Given the description of an element on the screen output the (x, y) to click on. 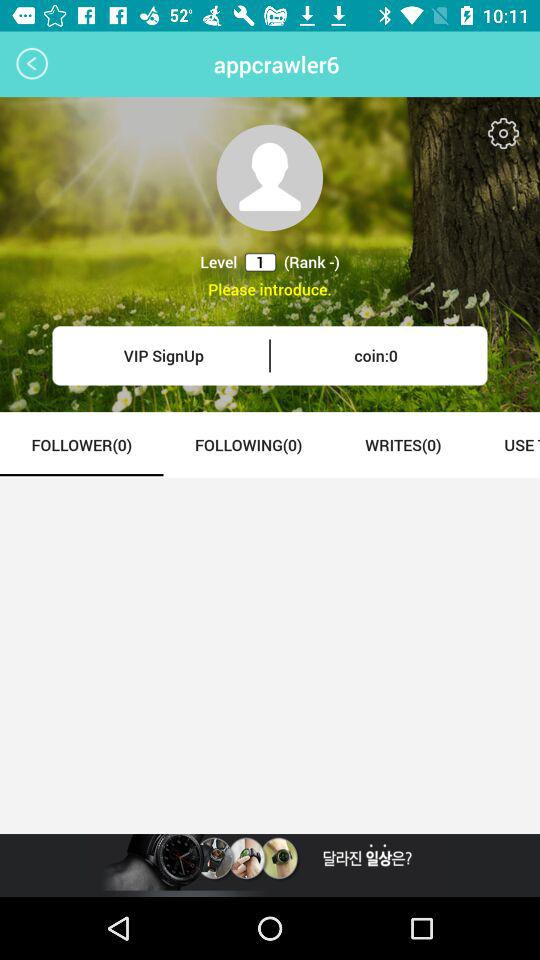
tap app below the please introduce. item (163, 355)
